Given the description of an element on the screen output the (x, y) to click on. 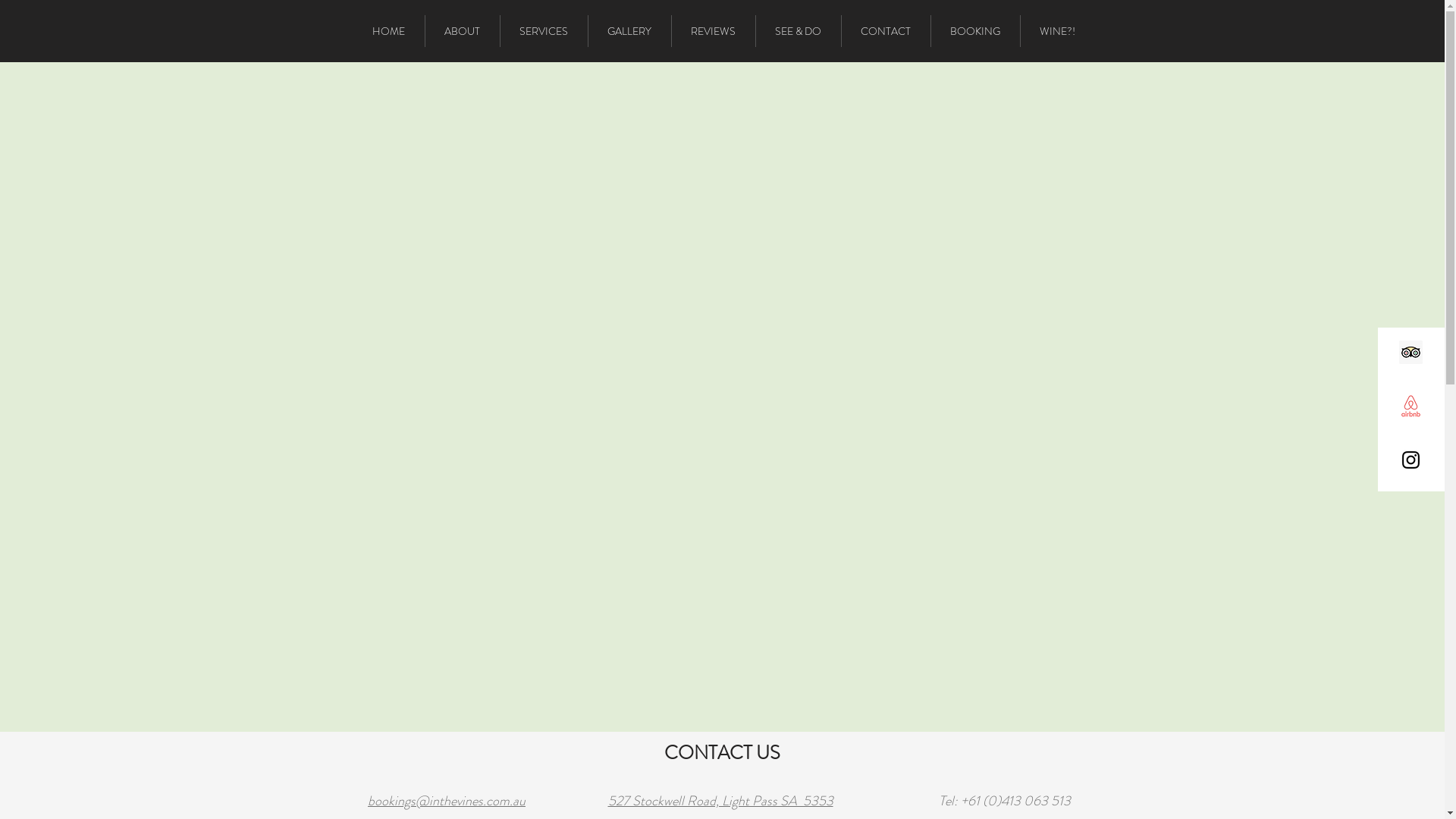
REVIEWS Element type: text (713, 31)
CONTACT Element type: text (885, 31)
SEE & DO Element type: text (797, 31)
WINE?! Element type: text (1057, 31)
bookings@inthevines.com.au Element type: text (446, 800)
GALLERY Element type: text (629, 31)
HOME Element type: text (388, 31)
ABOUT Element type: text (461, 31)
527 Stockwell Road, Light Pass SA  5353 Element type: text (720, 800)
BOOKING Element type: text (975, 31)
SERVICES Element type: text (543, 31)
